Given the description of an element on the screen output the (x, y) to click on. 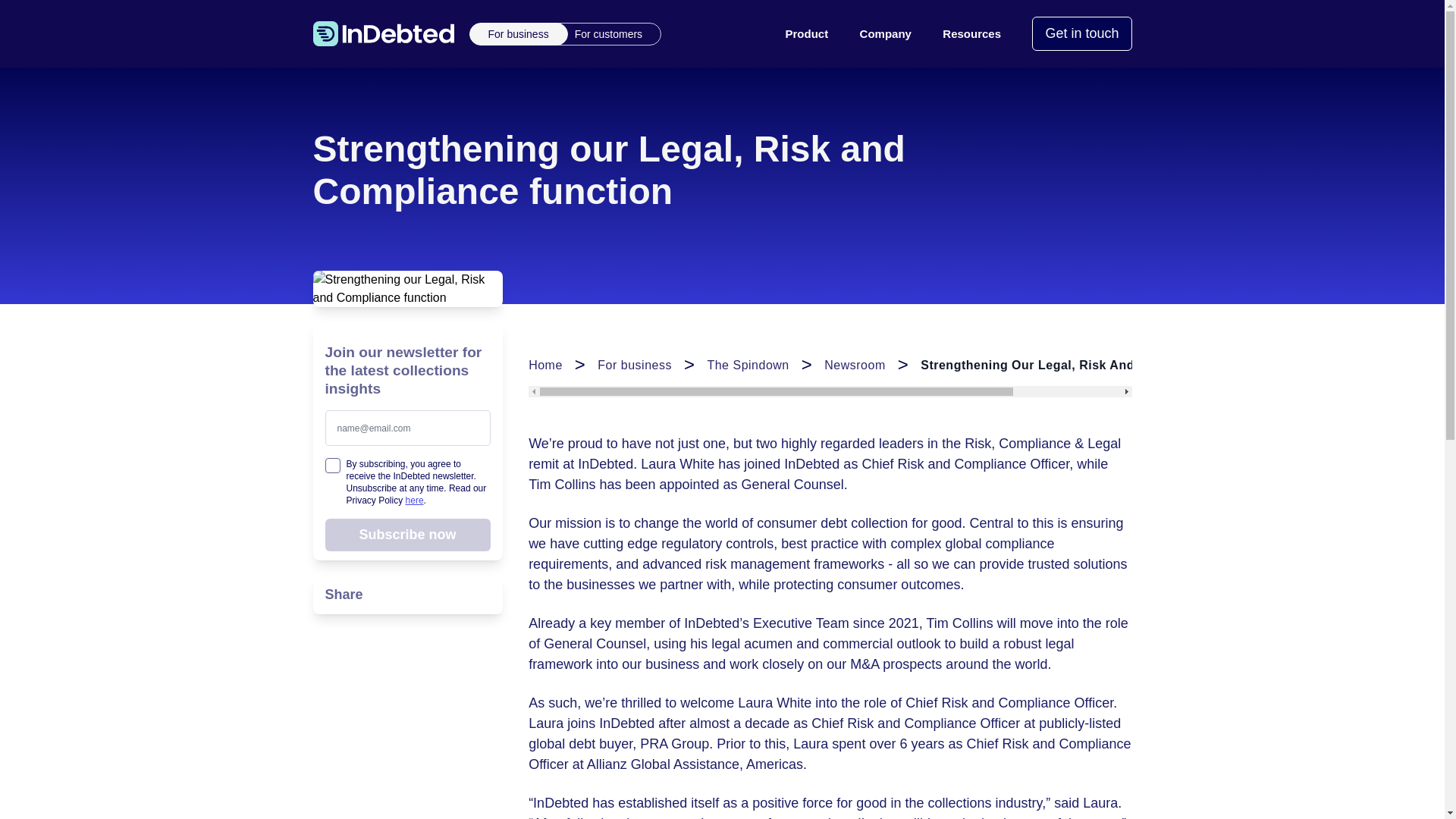
on (331, 465)
Go to the InDebted home page (382, 33)
For business (518, 33)
For customers (602, 33)
